Given the description of an element on the screen output the (x, y) to click on. 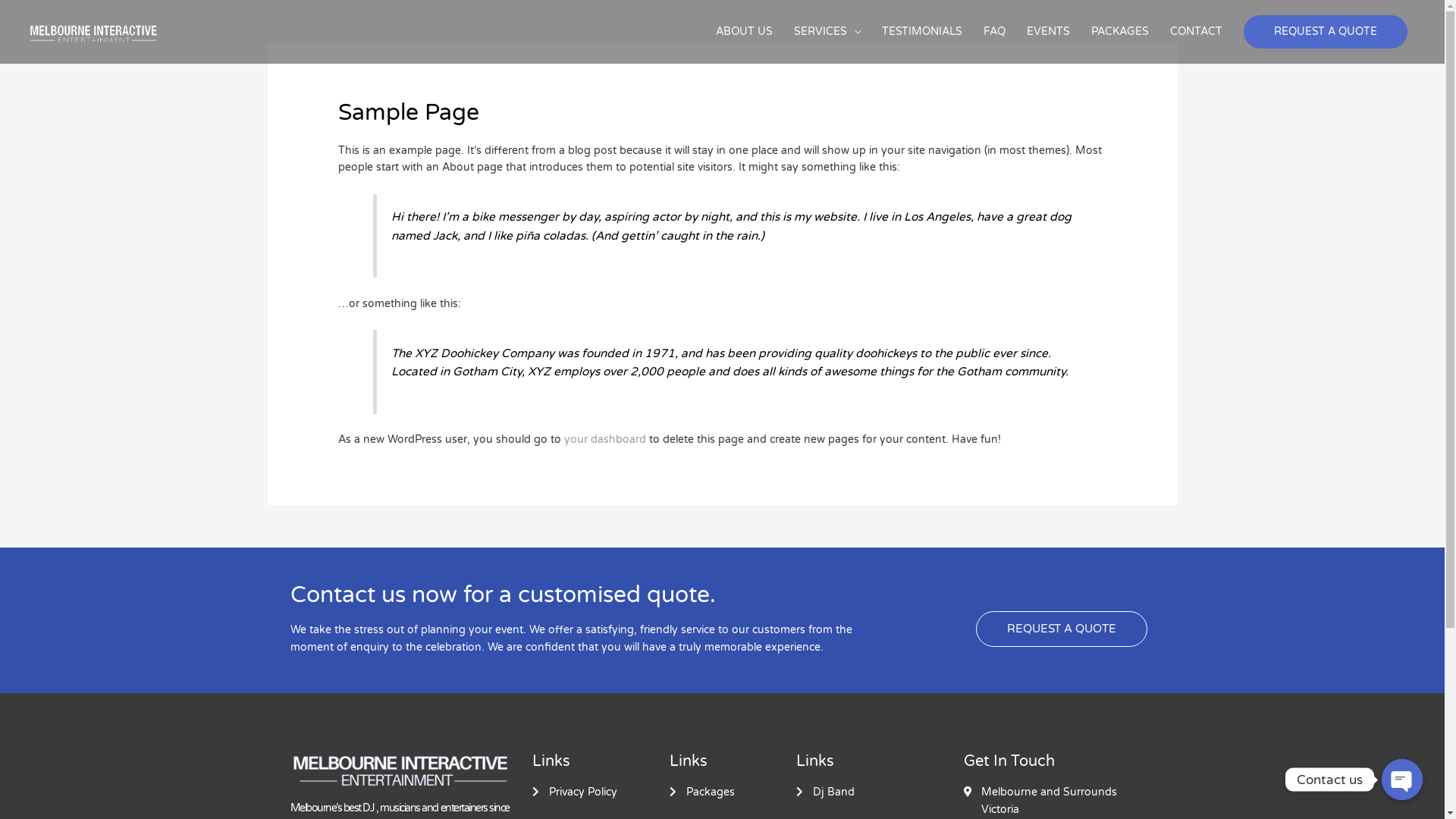
SERVICES Element type: text (827, 31)
your dashboard Element type: text (605, 439)
Dj Band Element type: text (879, 792)
Packages Element type: text (732, 792)
REQUEST A QUOTE Element type: text (1060, 628)
CONTACT Element type: text (1196, 31)
FAQ Element type: text (994, 31)
REQUEST A QUOTE Element type: text (1325, 31)
ABOUT US Element type: text (744, 31)
EVENTS Element type: text (1048, 31)
Privacy Policy Element type: text (600, 792)
PACKAGES Element type: text (1119, 31)
TESTIMONIALS Element type: text (921, 31)
